Given the description of an element on the screen output the (x, y) to click on. 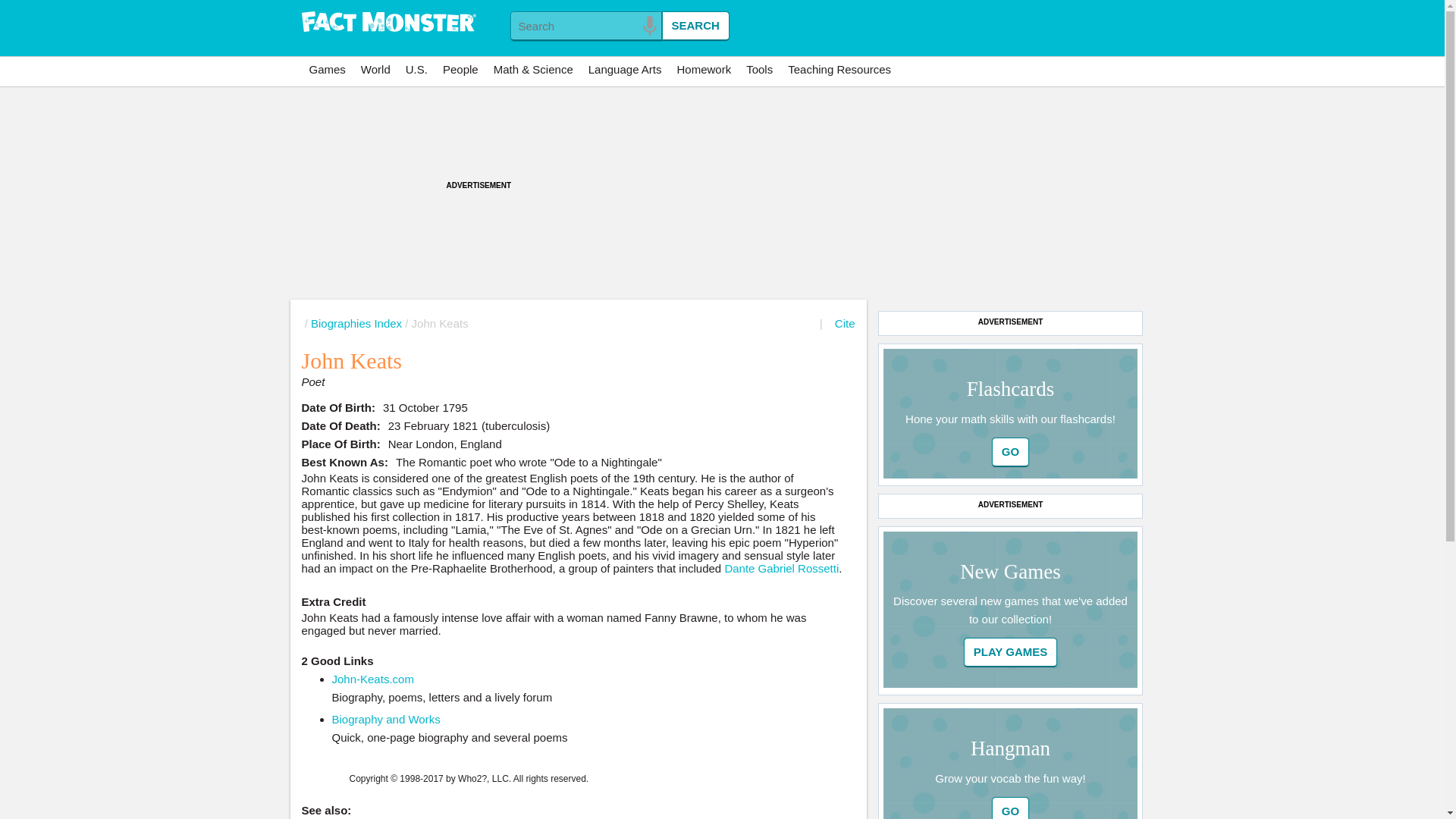
Go (1010, 451)
Play Games (1010, 652)
Search (695, 25)
Games (327, 69)
Go (1010, 451)
World (375, 69)
Go (1010, 652)
Home (387, 22)
Search (695, 25)
Search (695, 25)
U.S. (416, 69)
Enter the terms you wish to search for. (585, 25)
Go (1010, 807)
Go (1010, 807)
Visit our teacher resource sister site! (839, 69)
